Given the description of an element on the screen output the (x, y) to click on. 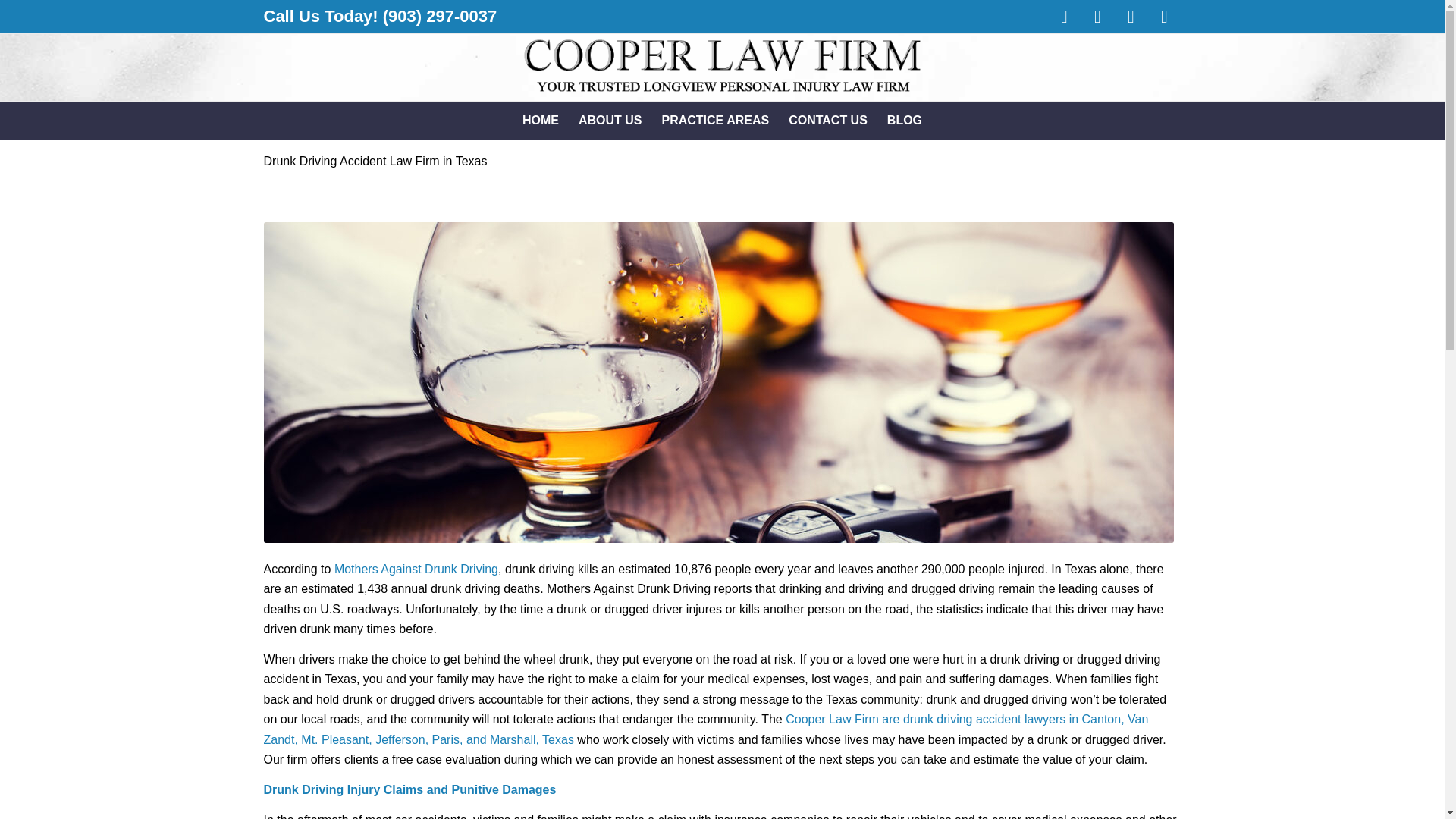
CONTACT US (827, 120)
Pinterest (1131, 16)
Twitter (1098, 16)
Permanent Link: Drunk Driving Accident Law Firm in Texas (375, 160)
Mothers Against Drunk Driving (415, 568)
PRACTICE AREAS (715, 120)
Facebook (1064, 16)
BLOG (904, 120)
LinkedIn (1164, 16)
